Given the description of an element on the screen output the (x, y) to click on. 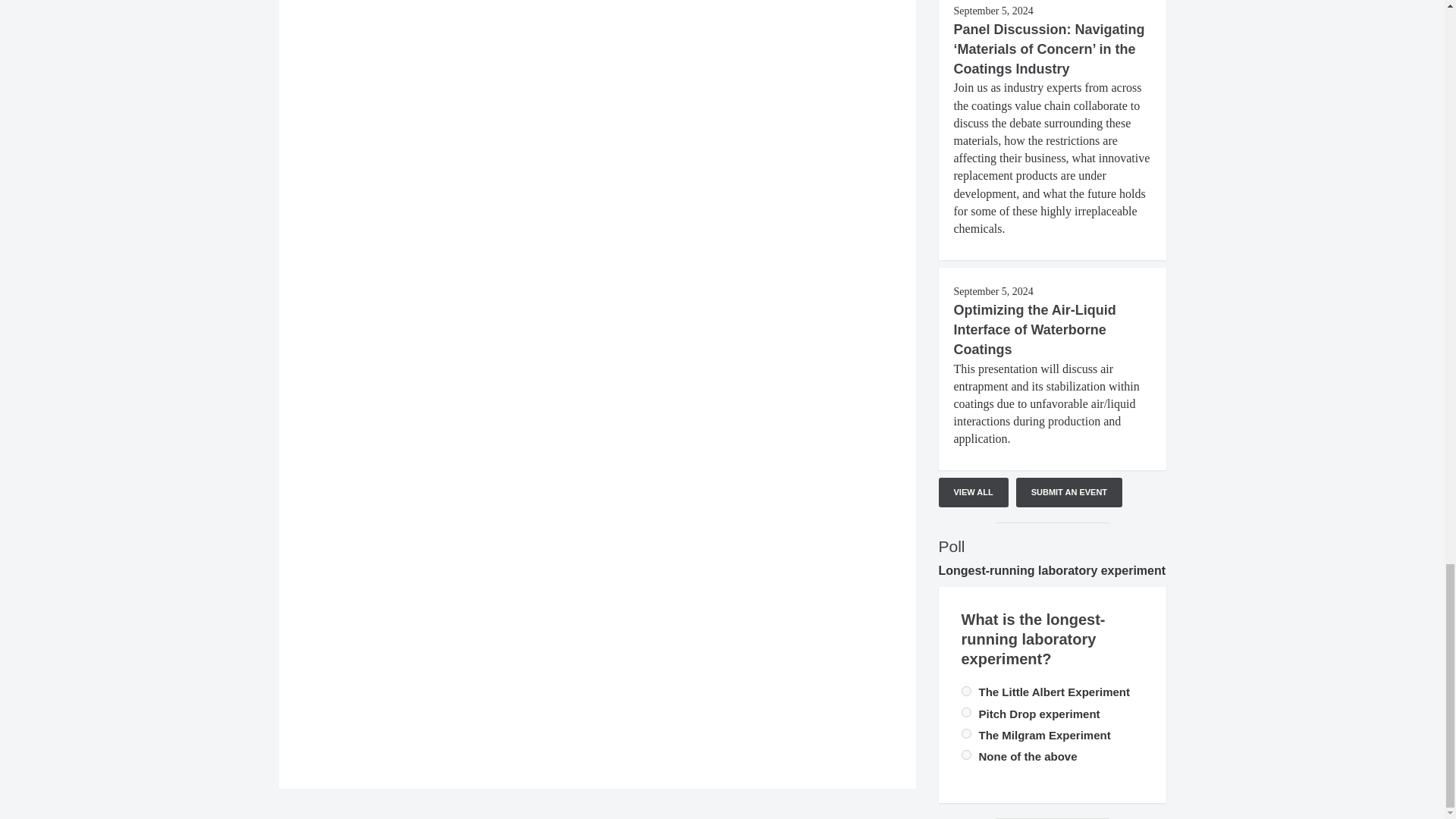
233 (965, 691)
230 (965, 712)
231 (965, 755)
232 (965, 733)
Optimizing the Air-Liquid Interface of Waterborne Coatings (1034, 329)
